Given the description of an element on the screen output the (x, y) to click on. 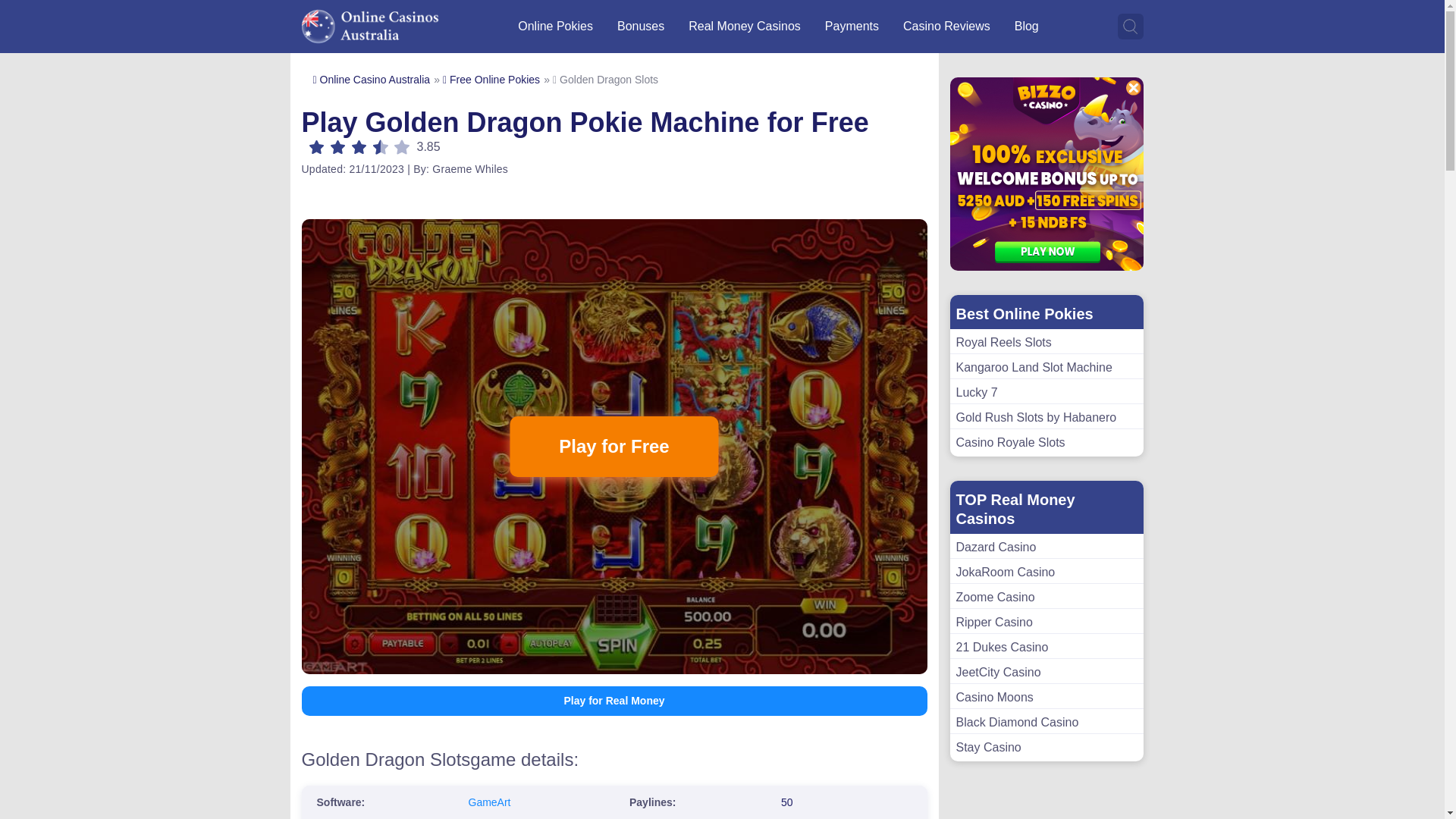
Online Pokies (555, 26)
Real Money Casinos (744, 26)
Casino Reviews (946, 26)
Bonuses (640, 26)
Payments (852, 26)
